Given the description of an element on the screen output the (x, y) to click on. 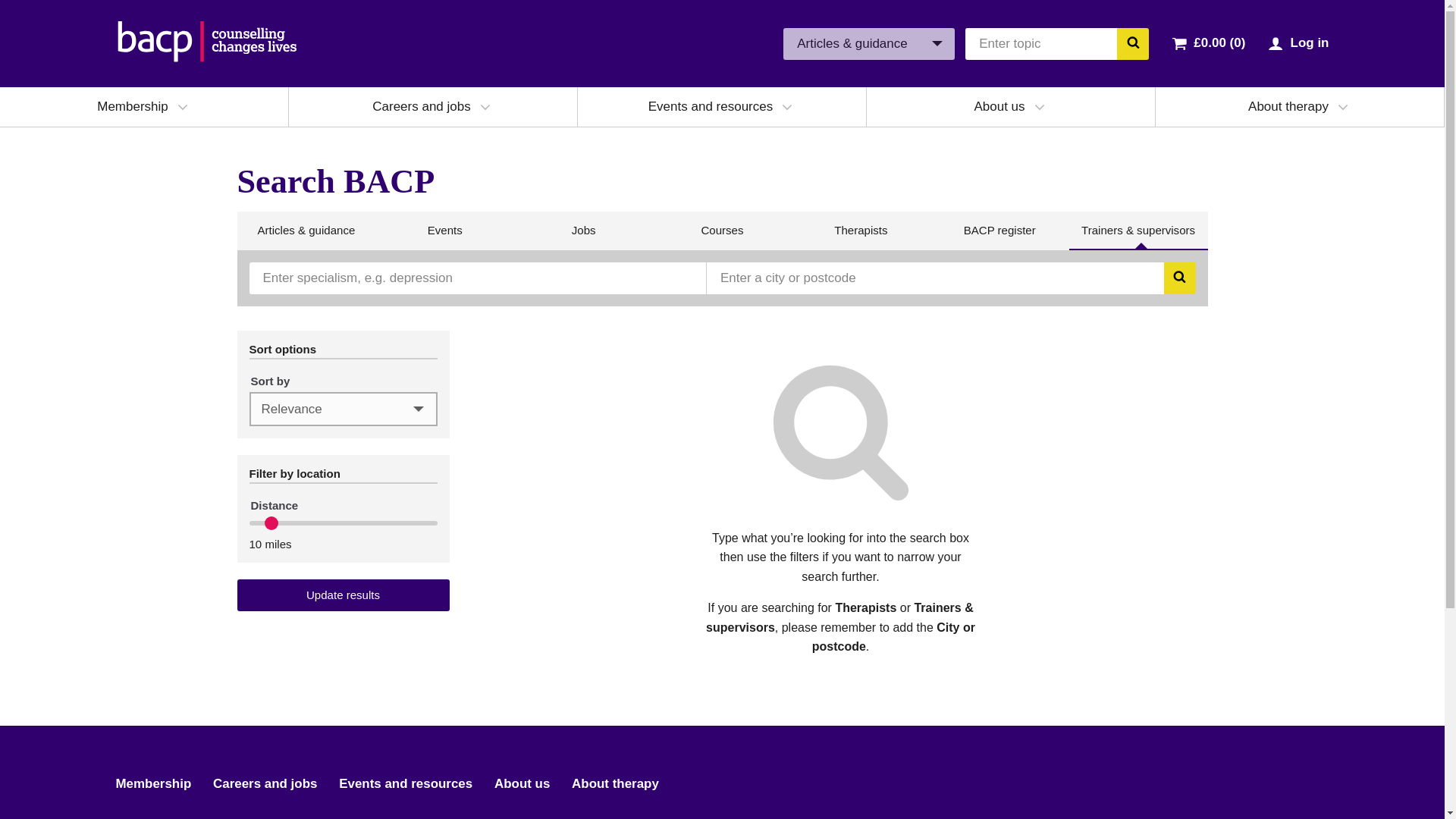
Careers and jobs (421, 106)
Log in (1309, 42)
Membership (132, 106)
Search the BACP website (1132, 42)
Events and resources (710, 106)
10 (342, 522)
